Given the description of an element on the screen output the (x, y) to click on. 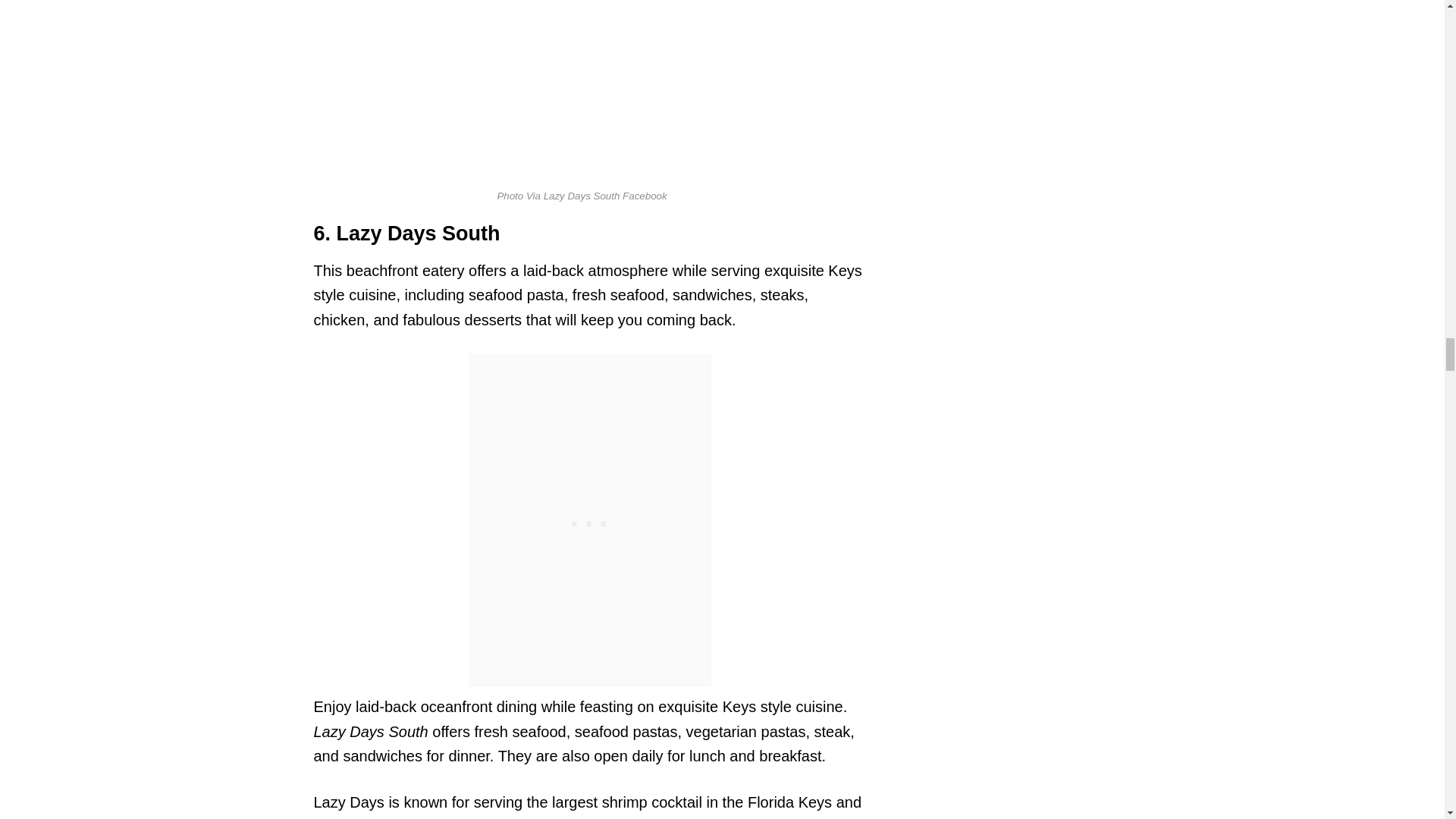
Best Restaurants in Marathon, Florida that you must TRY! 5 (582, 86)
